Given the description of an element on the screen output the (x, y) to click on. 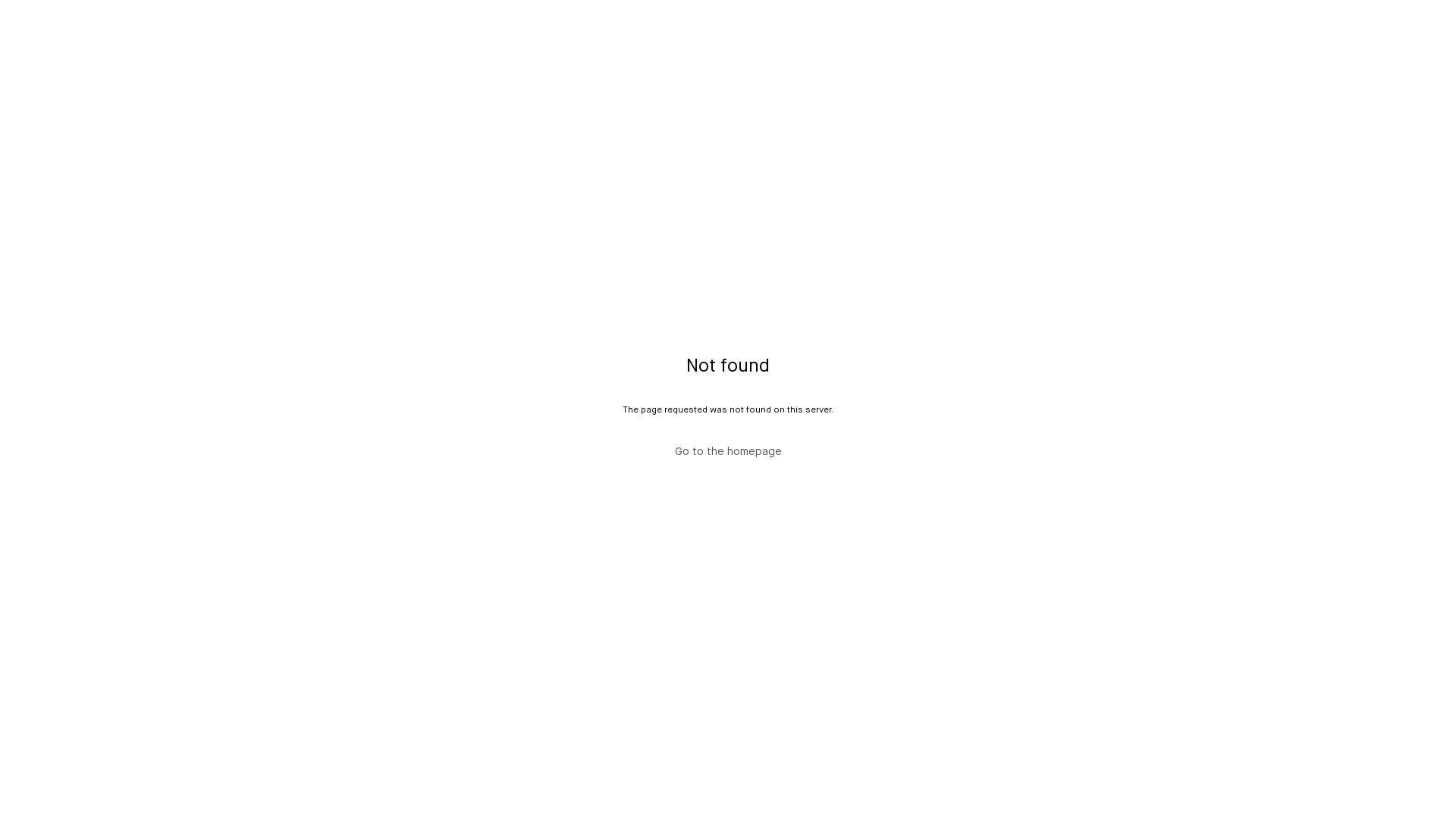
Go to the homepage Element type: text (727, 452)
